Given the description of an element on the screen output the (x, y) to click on. 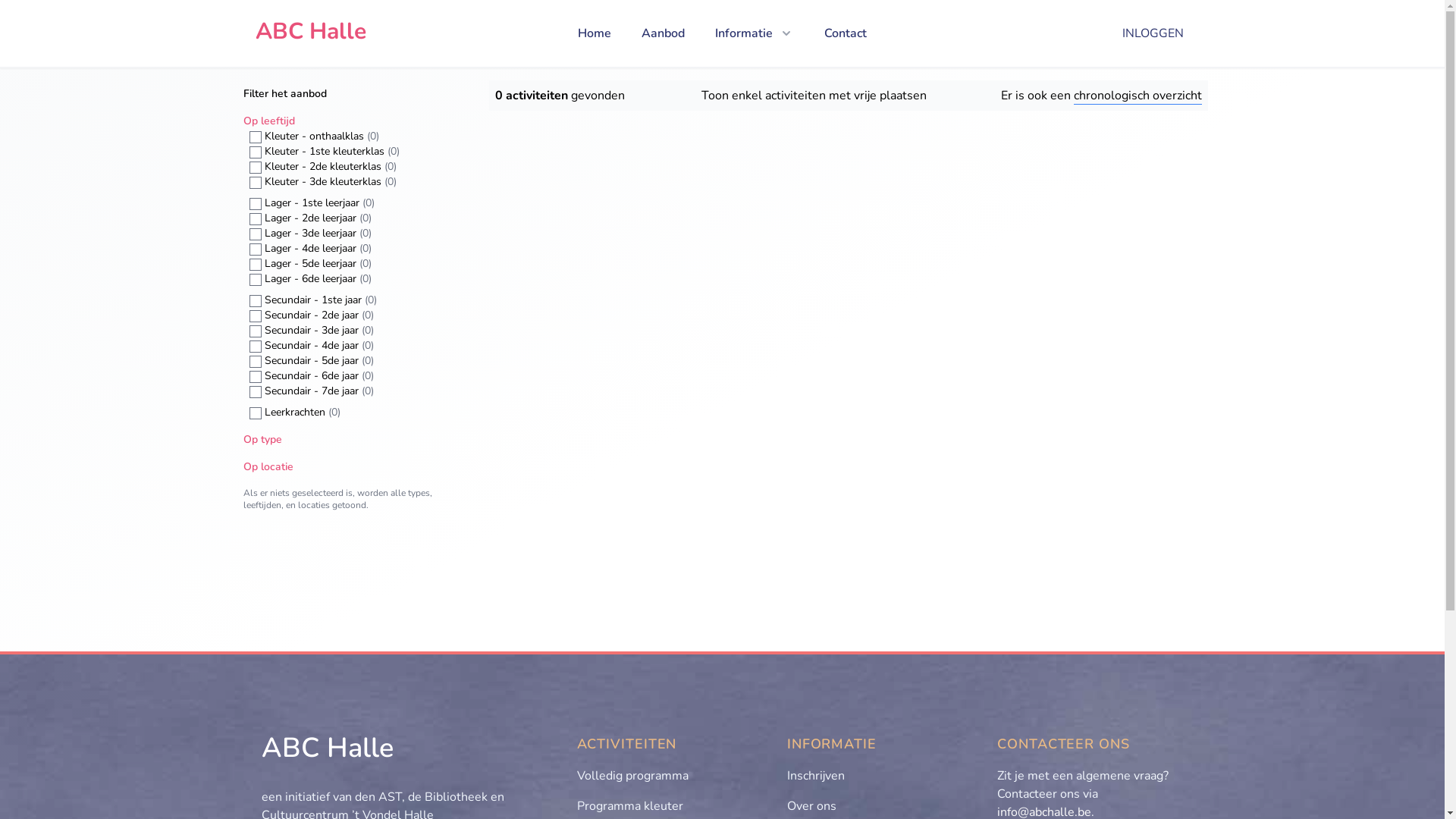
Informatie Element type: text (754, 33)
Over ons Element type: text (811, 805)
Contact Element type: text (845, 33)
ABC Halle
ABC Halle Element type: text (309, 33)
chronologisch overzicht Element type: text (1137, 95)
INLOGGEN Element type: text (1152, 33)
 Toon enkel activiteiten met vrije plaatsen Element type: text (812, 95)
Home Element type: text (594, 33)
Aanbod Element type: text (662, 33)
Inschrijven Element type: text (815, 775)
Programma kleuter Element type: text (629, 805)
Volledig programma Element type: text (631, 775)
